Given the description of an element on the screen output the (x, y) to click on. 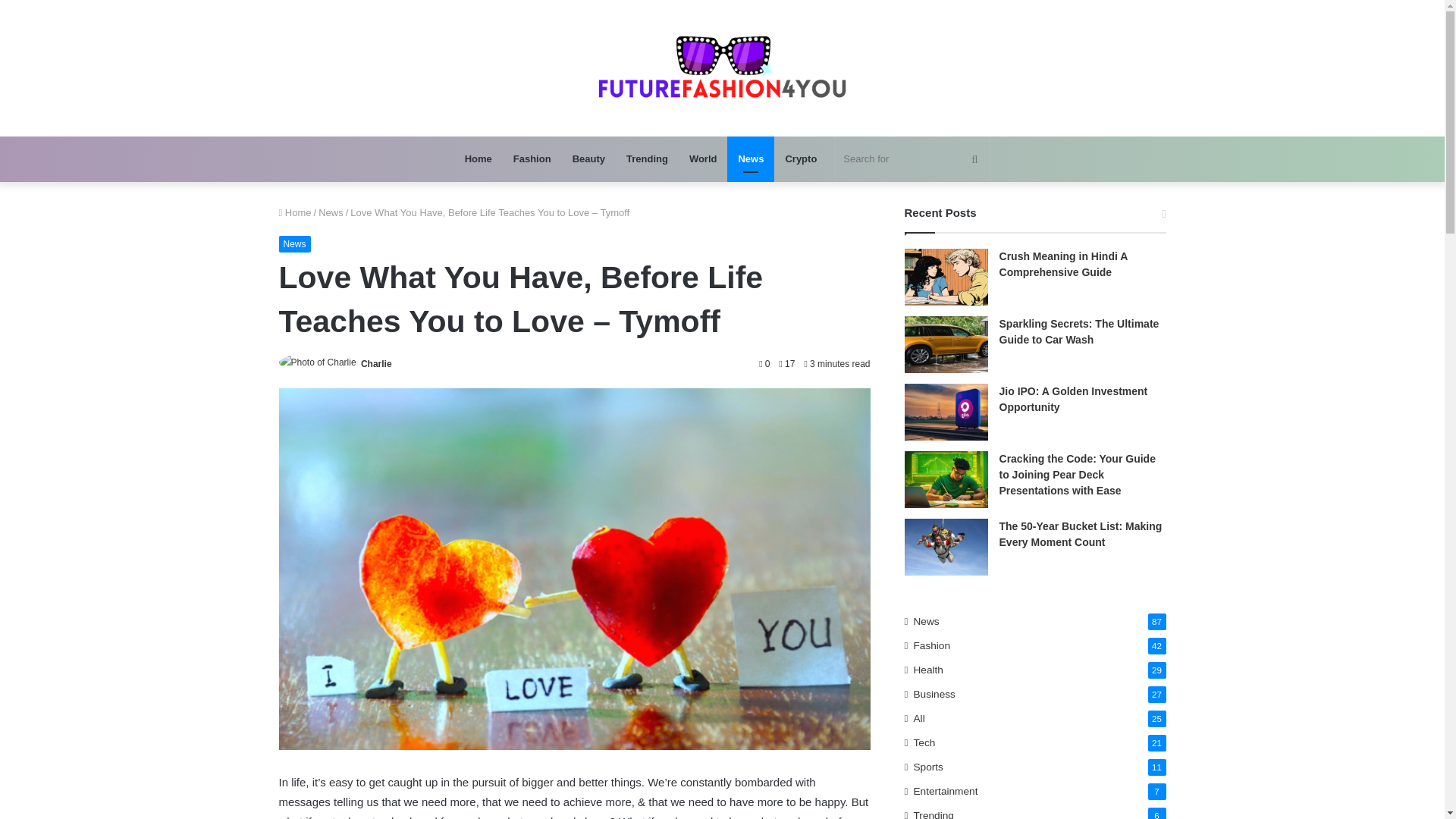
Charlie (376, 363)
News (295, 243)
World (703, 158)
Crypto (800, 158)
Beauty (588, 158)
News (750, 158)
News (330, 212)
Home (295, 212)
Fashion (532, 158)
Search for (912, 158)
